Given the description of an element on the screen output the (x, y) to click on. 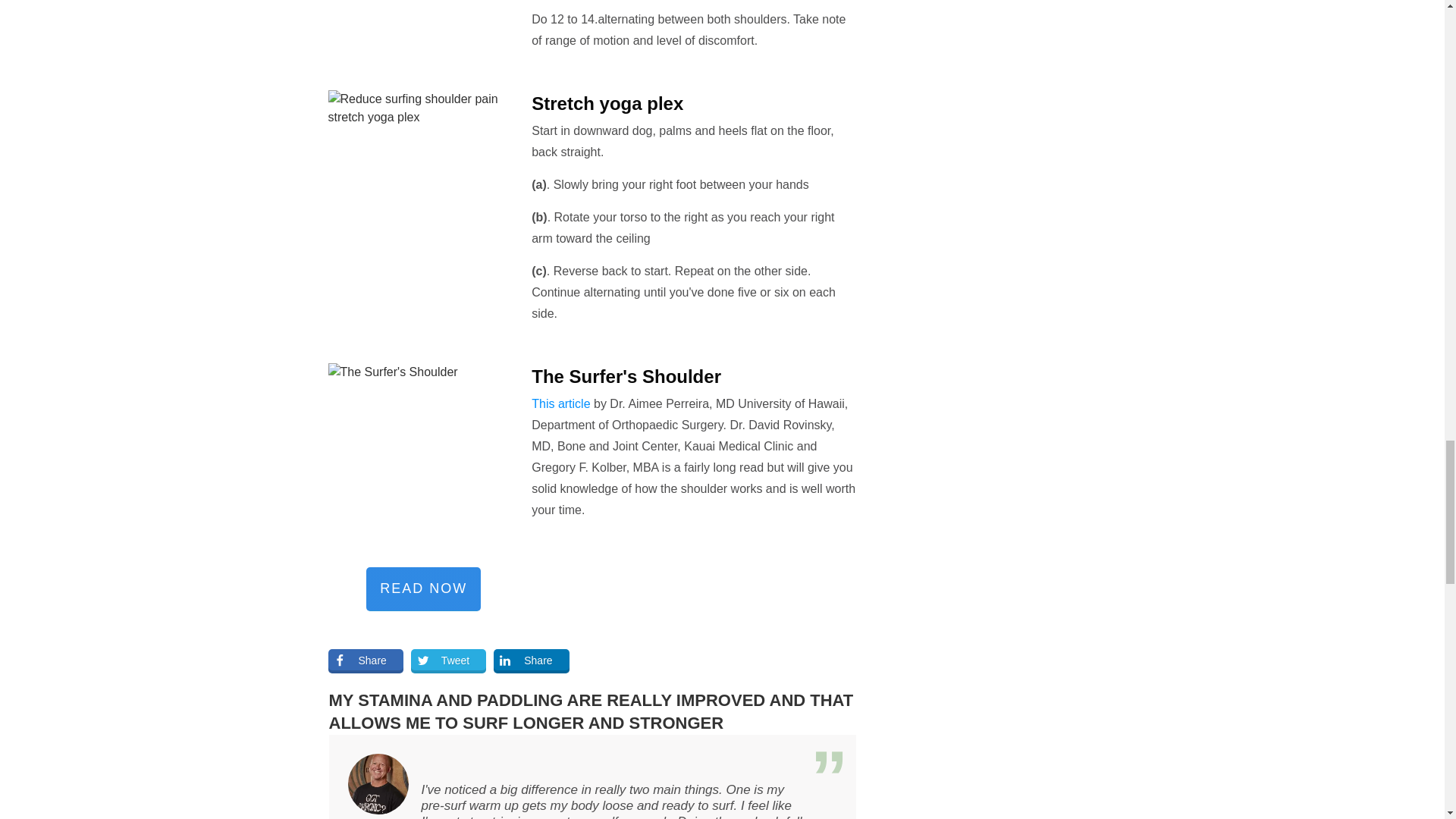
Share (365, 661)
Share (531, 661)
This article (560, 403)
The Surfer's Shoulder (422, 461)
stretch-yoga-plex (422, 185)
READ NOW (423, 588)
Tweet (448, 661)
